Given the description of an element on the screen output the (x, y) to click on. 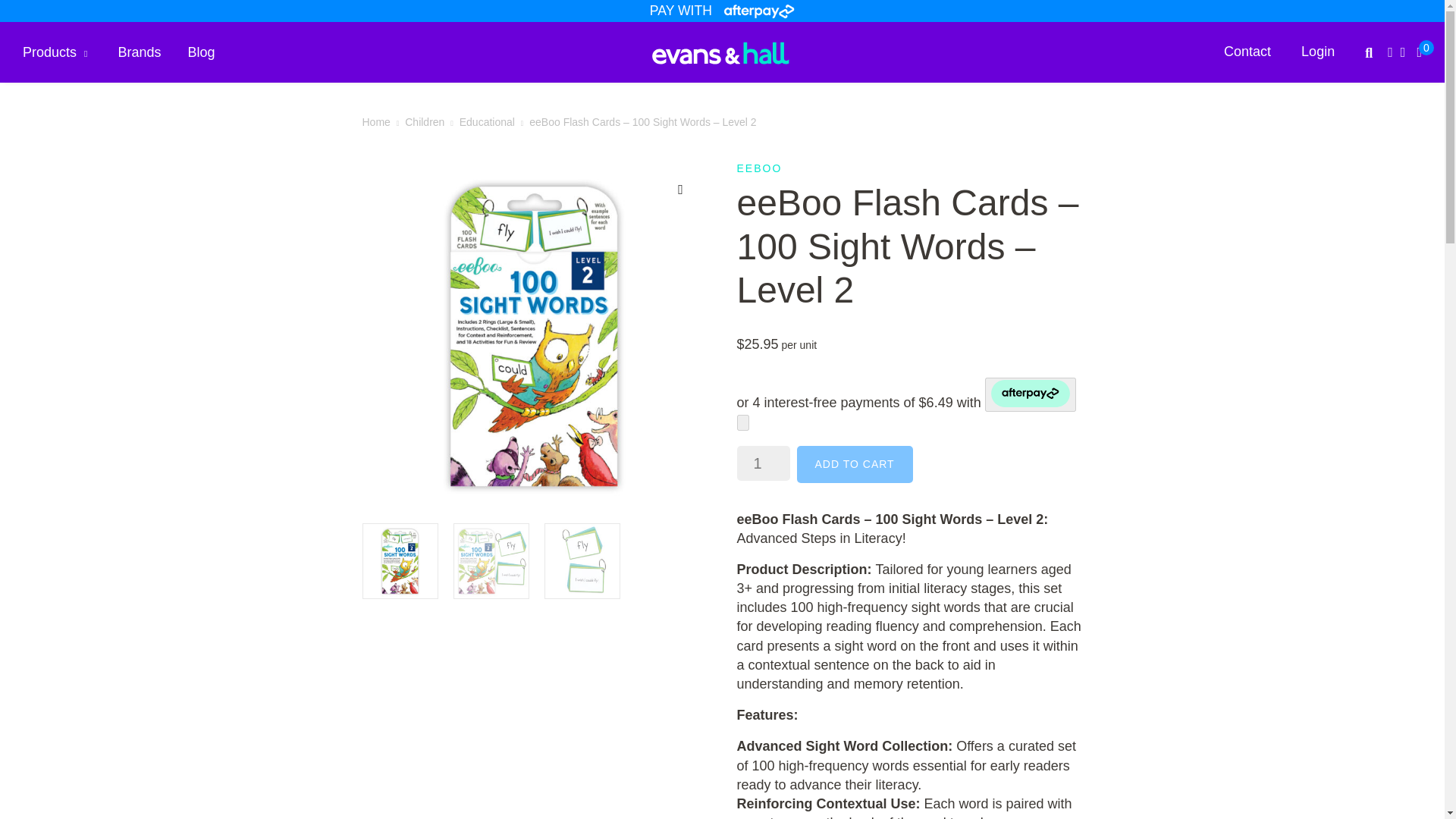
Products (55, 52)
1 (763, 462)
EB-FLSW2.jpg (534, 334)
